Given the description of an element on the screen output the (x, y) to click on. 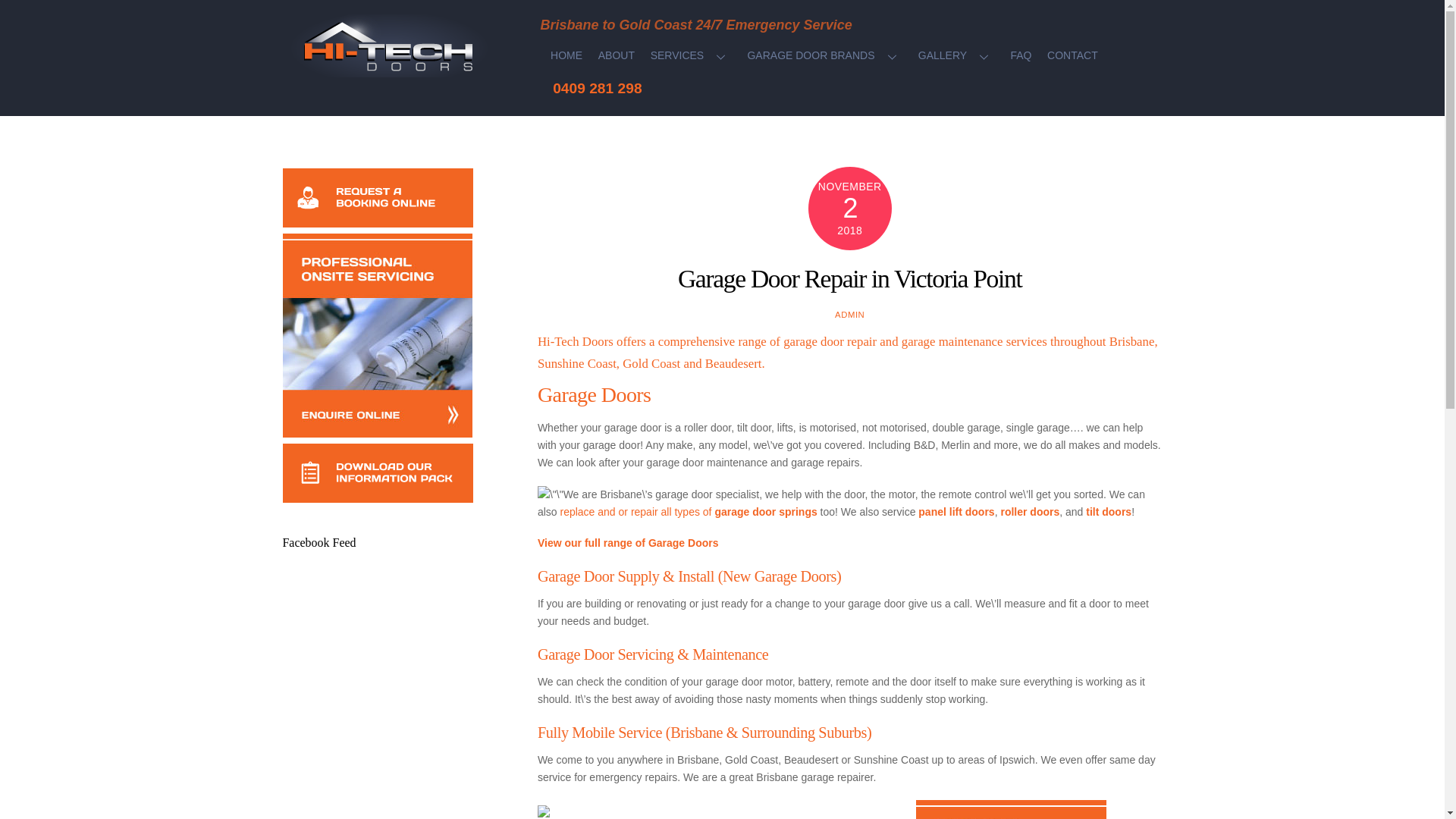
logo-hitech (394, 45)
Garage Door Repair in Victoria Point (850, 278)
tilt doors (1108, 511)
View our full range of Garage Doors (628, 542)
roller doors (1029, 511)
replace and or repair all types of garage door springs (687, 511)
GALLERY (956, 55)
0409 281 298 (597, 88)
ABOUT (615, 55)
SERVICES (690, 55)
GARAGE DOOR BRANDS (824, 55)
HOME (566, 55)
FAQ (1021, 55)
